Given the description of an element on the screen output the (x, y) to click on. 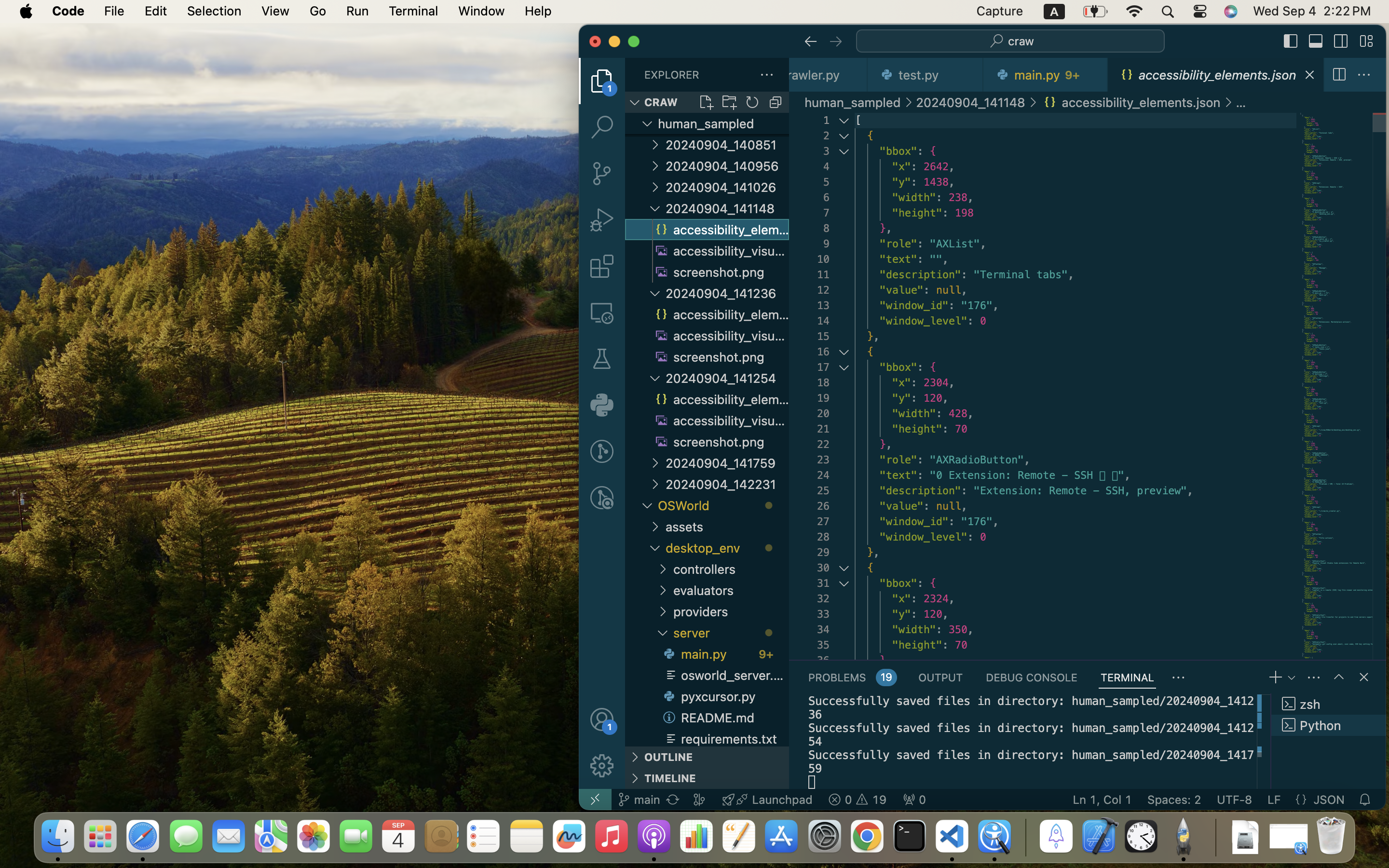
 Element type: AXCheckBox (1341, 41)
0.4285714328289032 Element type: AXDockItem (1024, 836)
controllers Element type: AXGroup (731, 568)
OSWorld  Element type: AXGroup (723, 504)
providers Element type: AXGroup (731, 611)
